Given the description of an element on the screen output the (x, y) to click on. 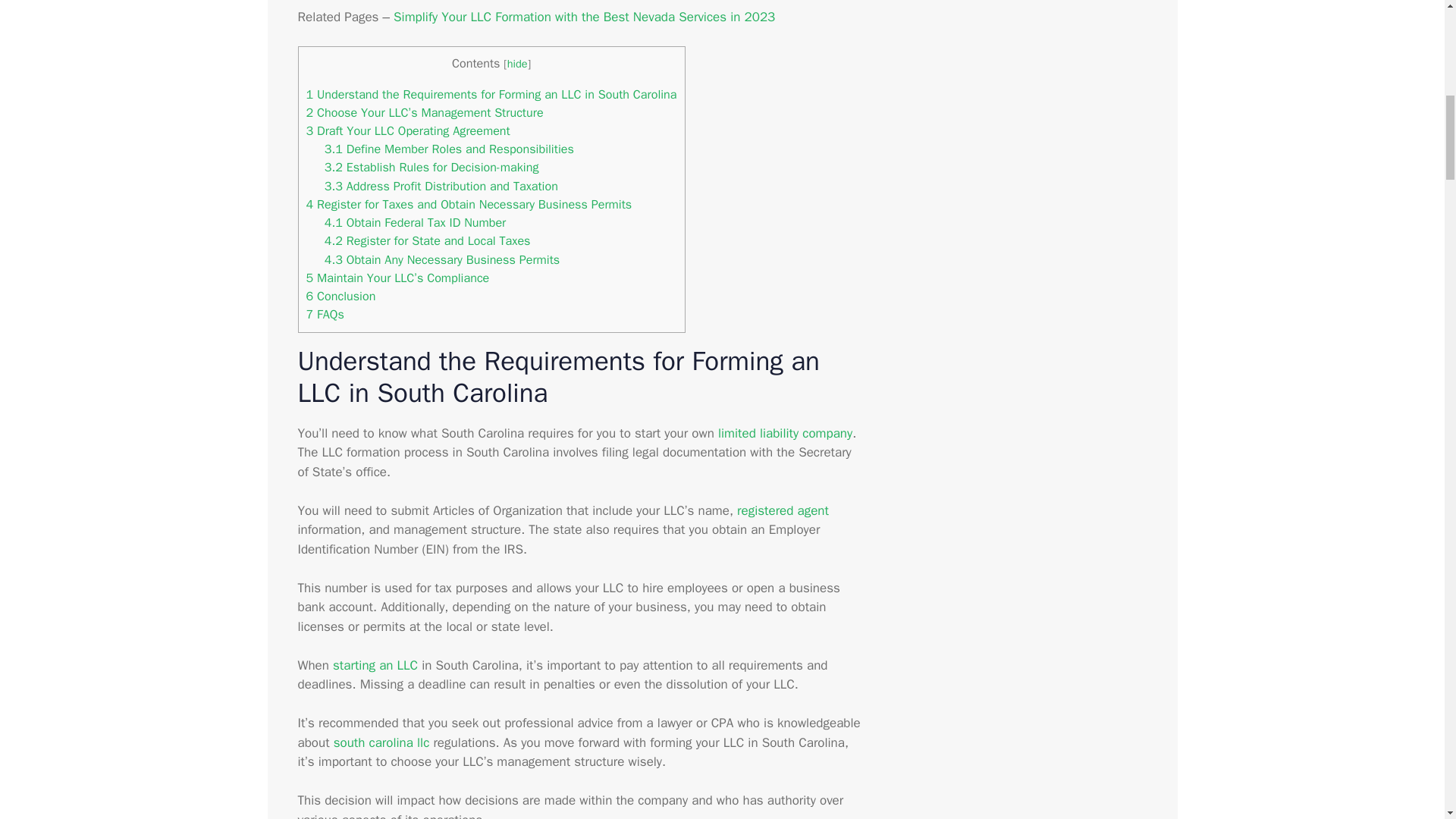
limited liability company (784, 433)
hide (516, 63)
3 Draft Your LLC Operating Agreement (408, 130)
4.3 Obtain Any Necessary Business Permits (441, 259)
4 Register for Taxes and Obtain Necessary Business Permits (468, 204)
7 FAQs (324, 314)
south carolina llc (381, 742)
Completing the South Carolina LLC Formation in 2024 (381, 742)
starting an LLC (375, 665)
How to Set Up an LLC in 2023: A Step-by-Step Guide (375, 665)
3.2 Establish Rules for Decision-making (431, 166)
4.2 Register for State and Local Taxes (427, 240)
registered agent (782, 510)
4.1 Obtain Federal Tax ID Number (415, 222)
